Given the description of an element on the screen output the (x, y) to click on. 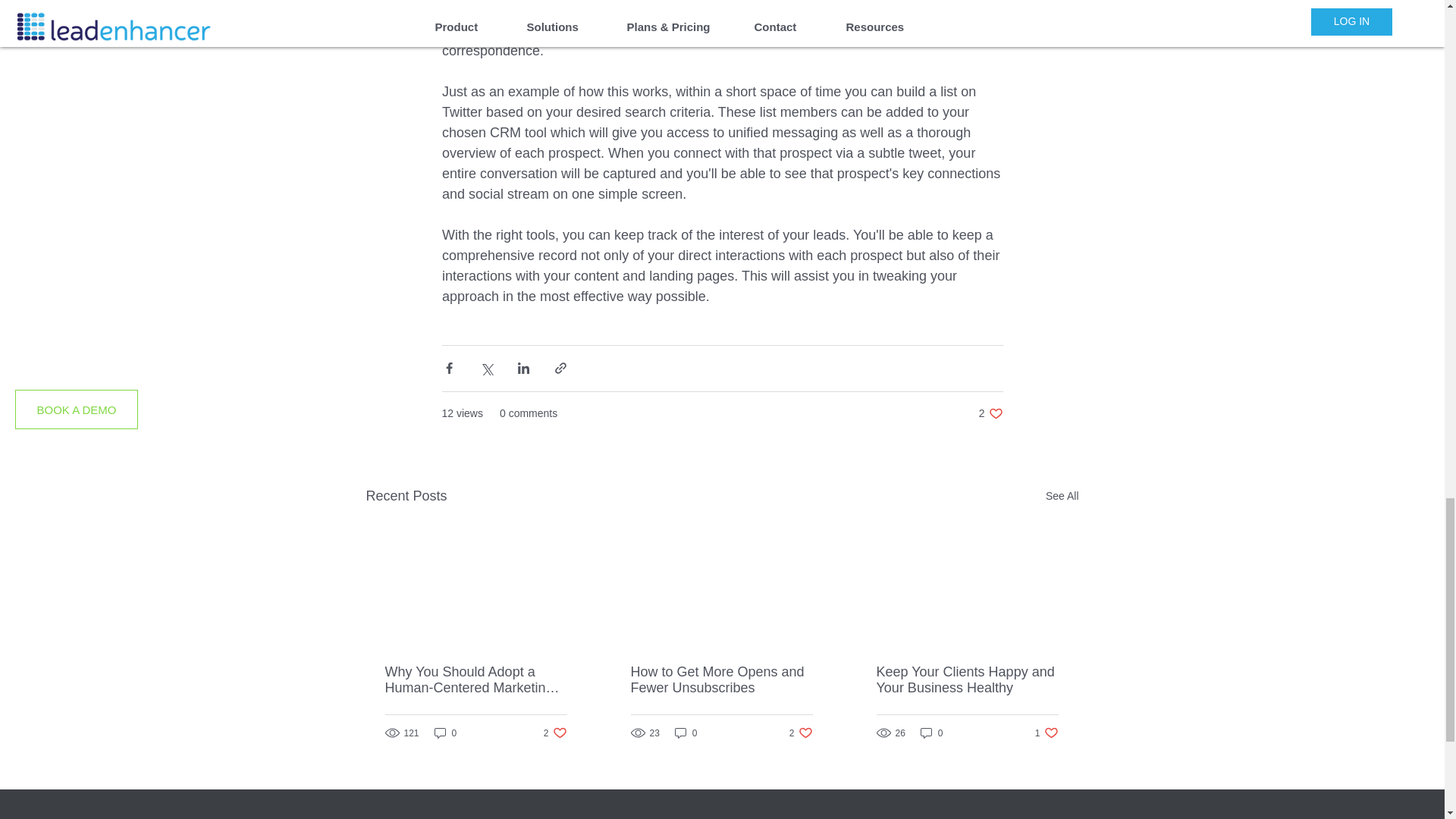
0 (1046, 732)
0 (931, 732)
Keep Your Clients Happy and Your Business Healthy (990, 413)
0 (445, 732)
How to Get More Opens and Fewer Unsubscribes (555, 732)
Why You Should Adopt a Human-Centered Marketing Approach (967, 680)
See All (685, 732)
